Given the description of an element on the screen output the (x, y) to click on. 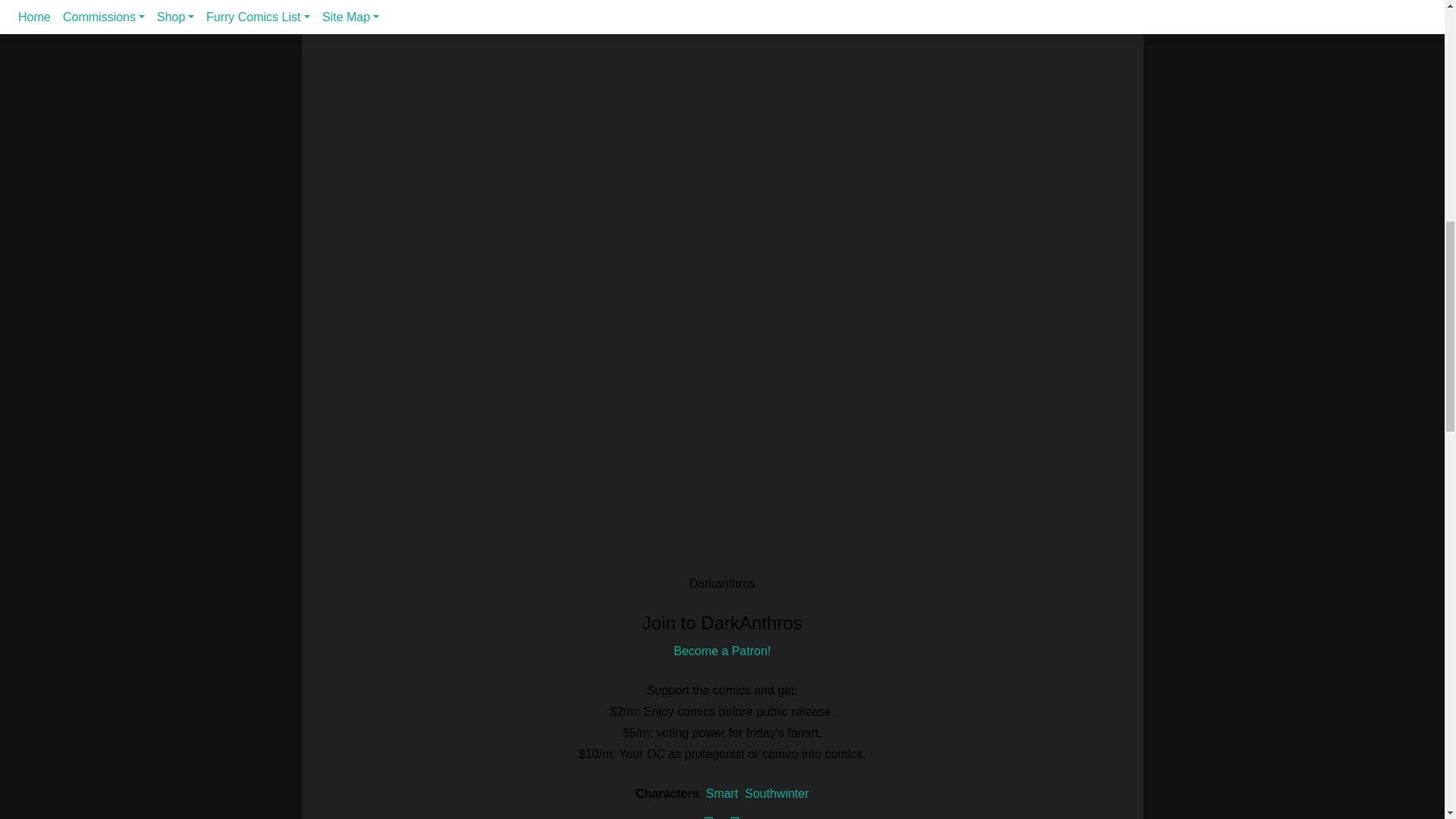
Become a Patron! (721, 650)
Smart (722, 793)
Southwinter (776, 793)
